Given the description of an element on the screen output the (x, y) to click on. 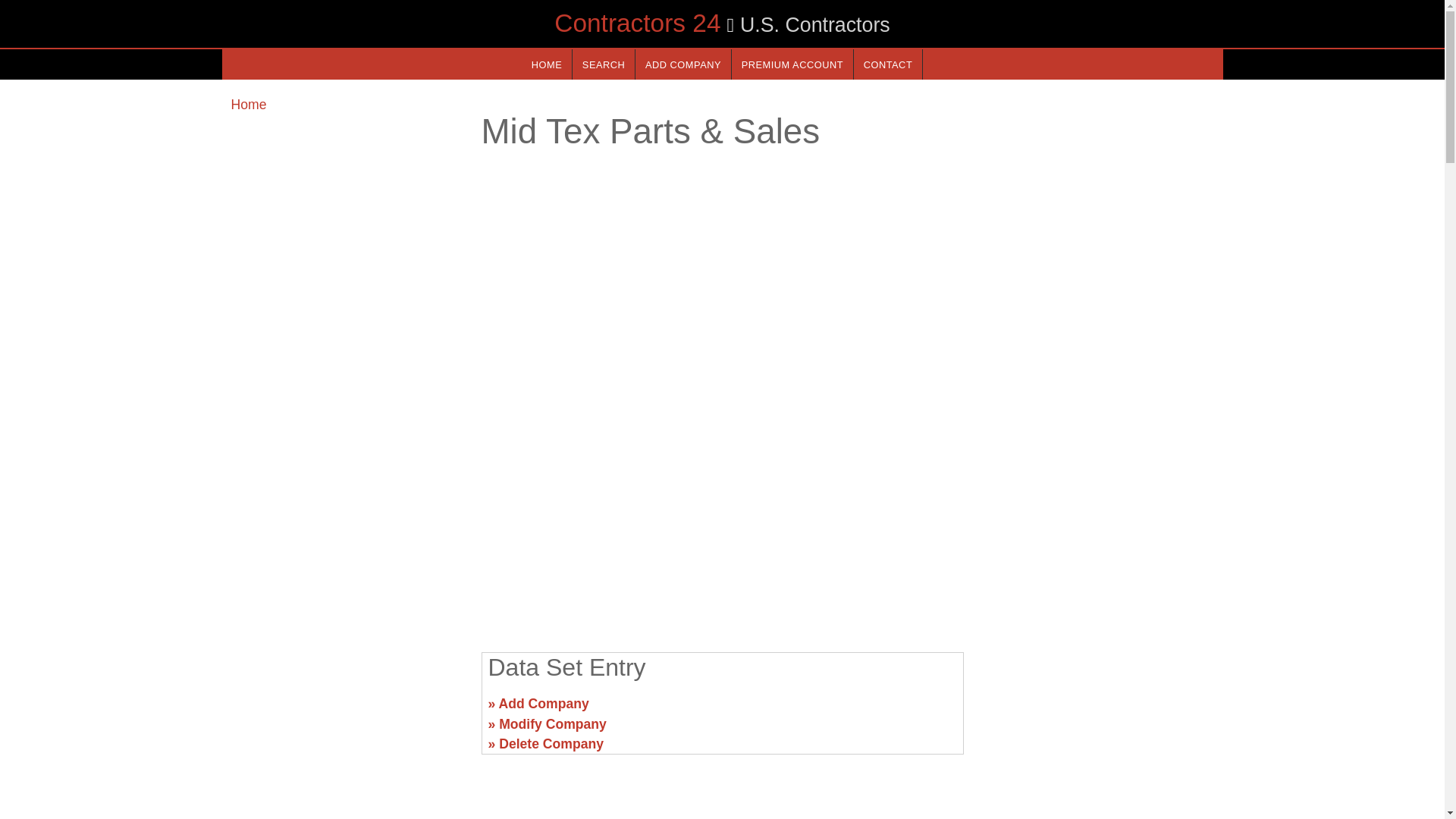
Premium account (792, 64)
ADD COMPANY (682, 64)
HOME (546, 64)
Home (248, 104)
Advertisement (1096, 710)
Advertisement (721, 522)
Search in this webseite. (603, 64)
PREMIUM ACCOUNT (792, 64)
Advertisement (346, 710)
